Given the description of an element on the screen output the (x, y) to click on. 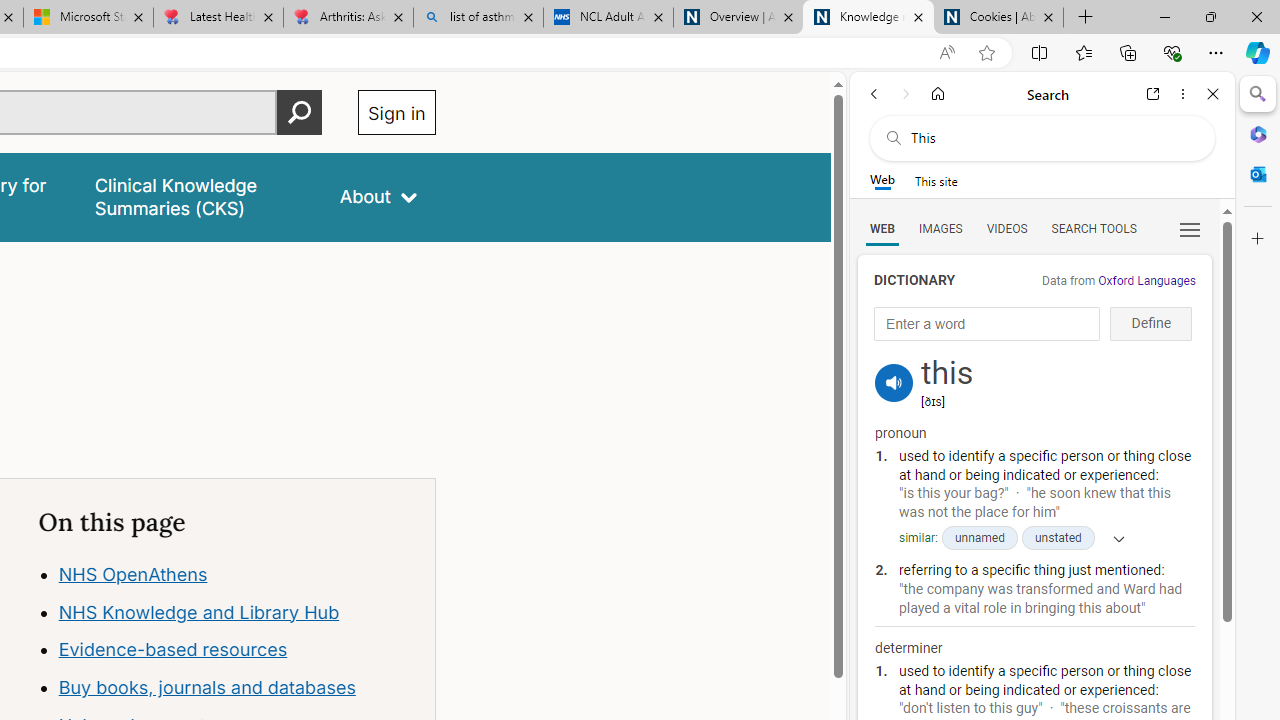
Perform search (299, 112)
Evidence-based resources (237, 650)
Evidence-based resources (172, 649)
